Given the description of an element on the screen output the (x, y) to click on. 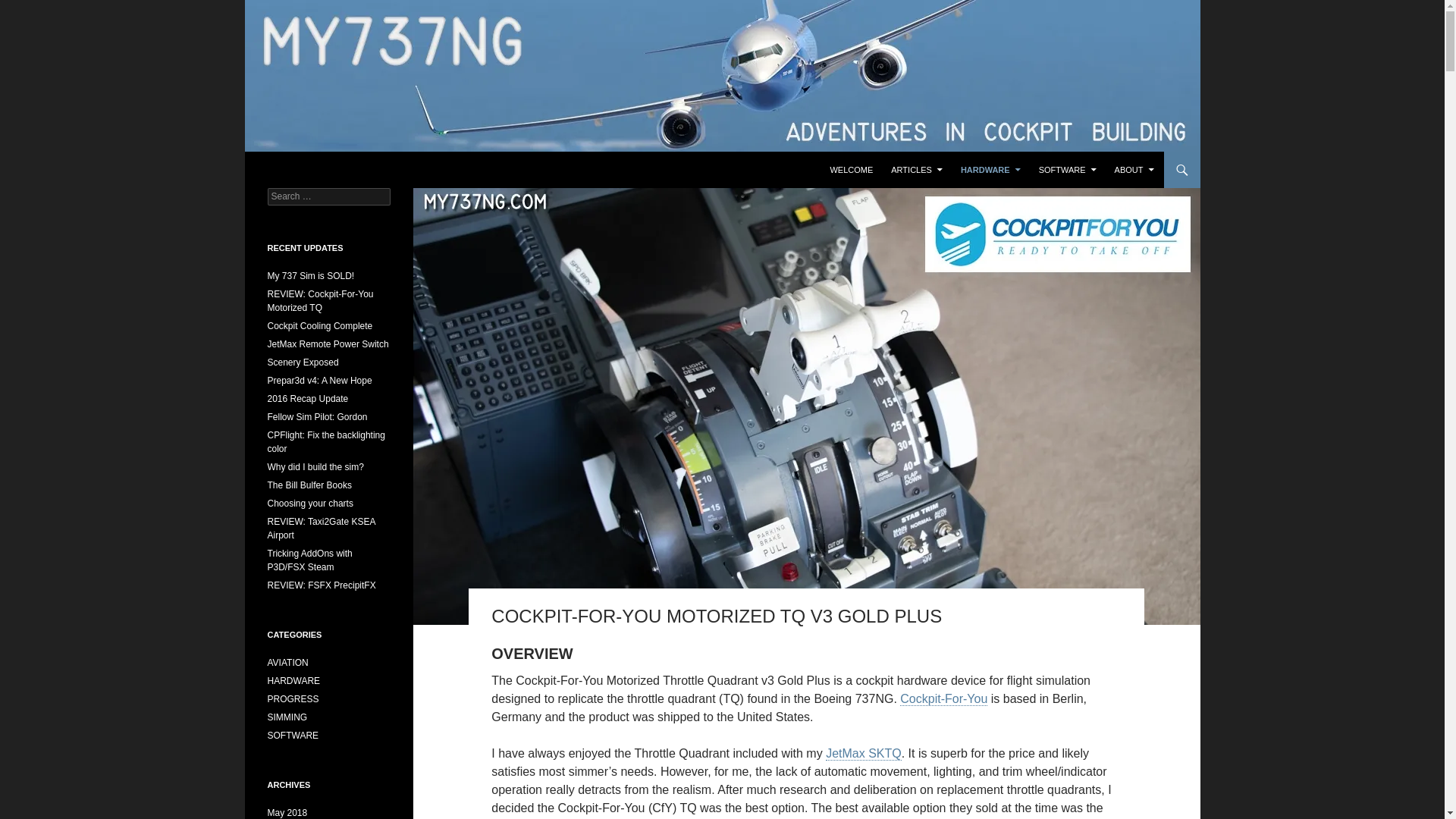
HARDWARE (990, 169)
WELCOME (851, 169)
ARTICLES (917, 169)
my737NG (298, 169)
